Given the description of an element on the screen output the (x, y) to click on. 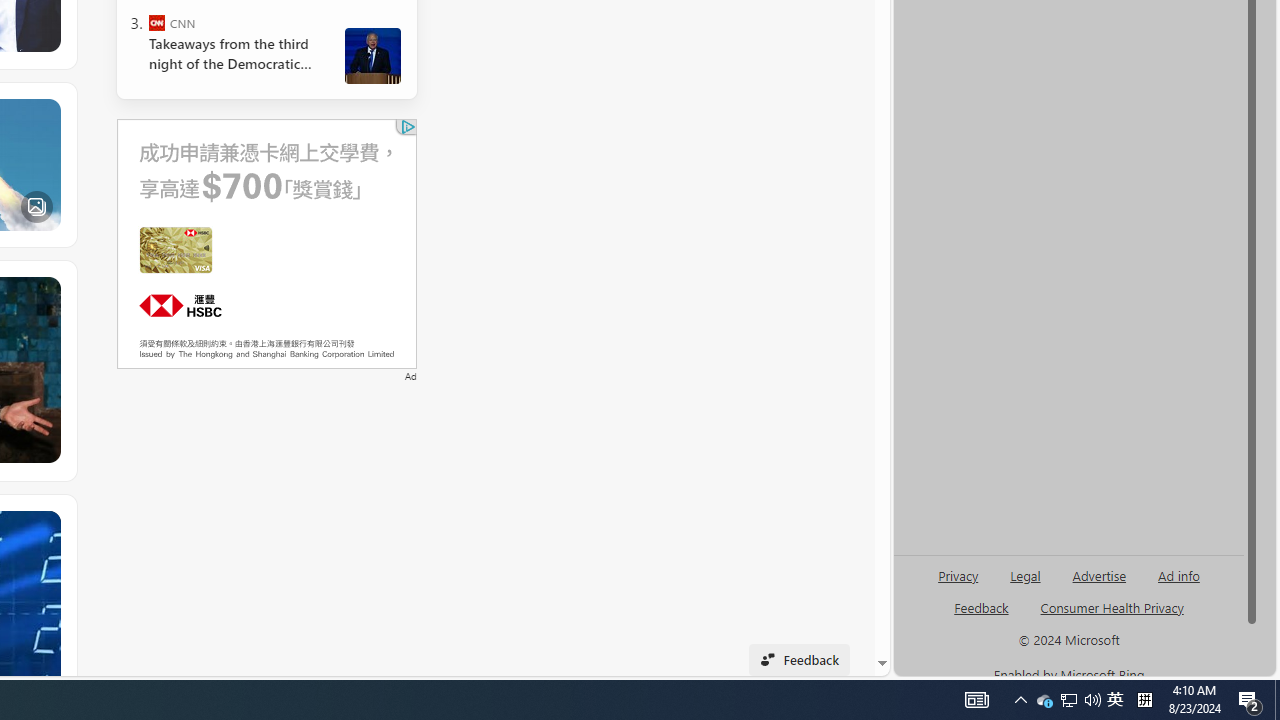
AutomationID: genId96 (981, 615)
Class: qc-adchoices-icon (407, 126)
Class: qc-adchoices-link top-right  (406, 125)
AutomationID: canvas (266, 243)
AutomationID: sb_feedback (980, 607)
